Given the description of an element on the screen output the (x, y) to click on. 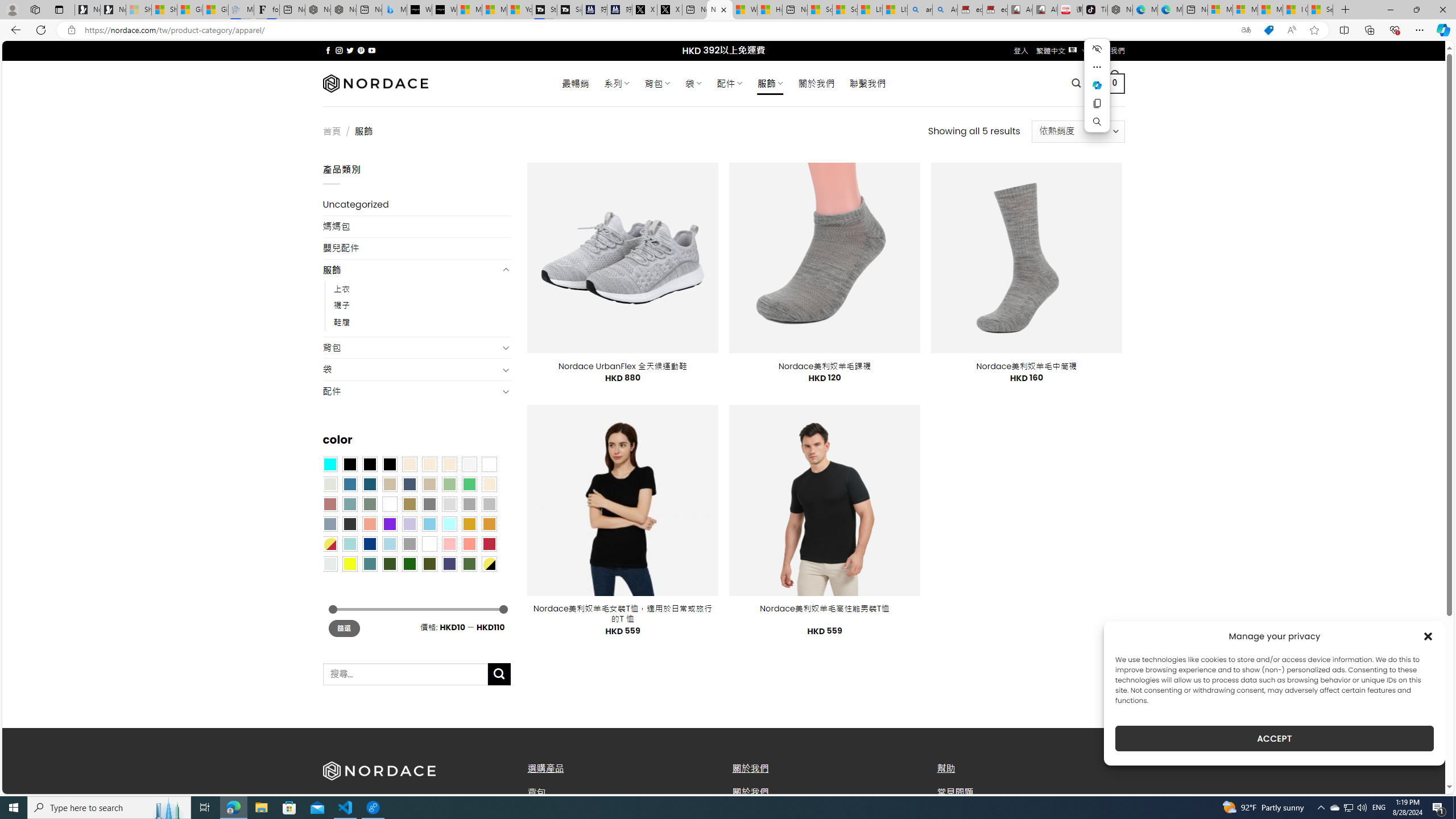
Follow on Twitter (349, 50)
Close tab (723, 9)
Nordace (374, 83)
Uncategorized (416, 204)
What's the best AI voice generator? - voice.ai (443, 9)
View site information (70, 29)
